Given the description of an element on the screen output the (x, y) to click on. 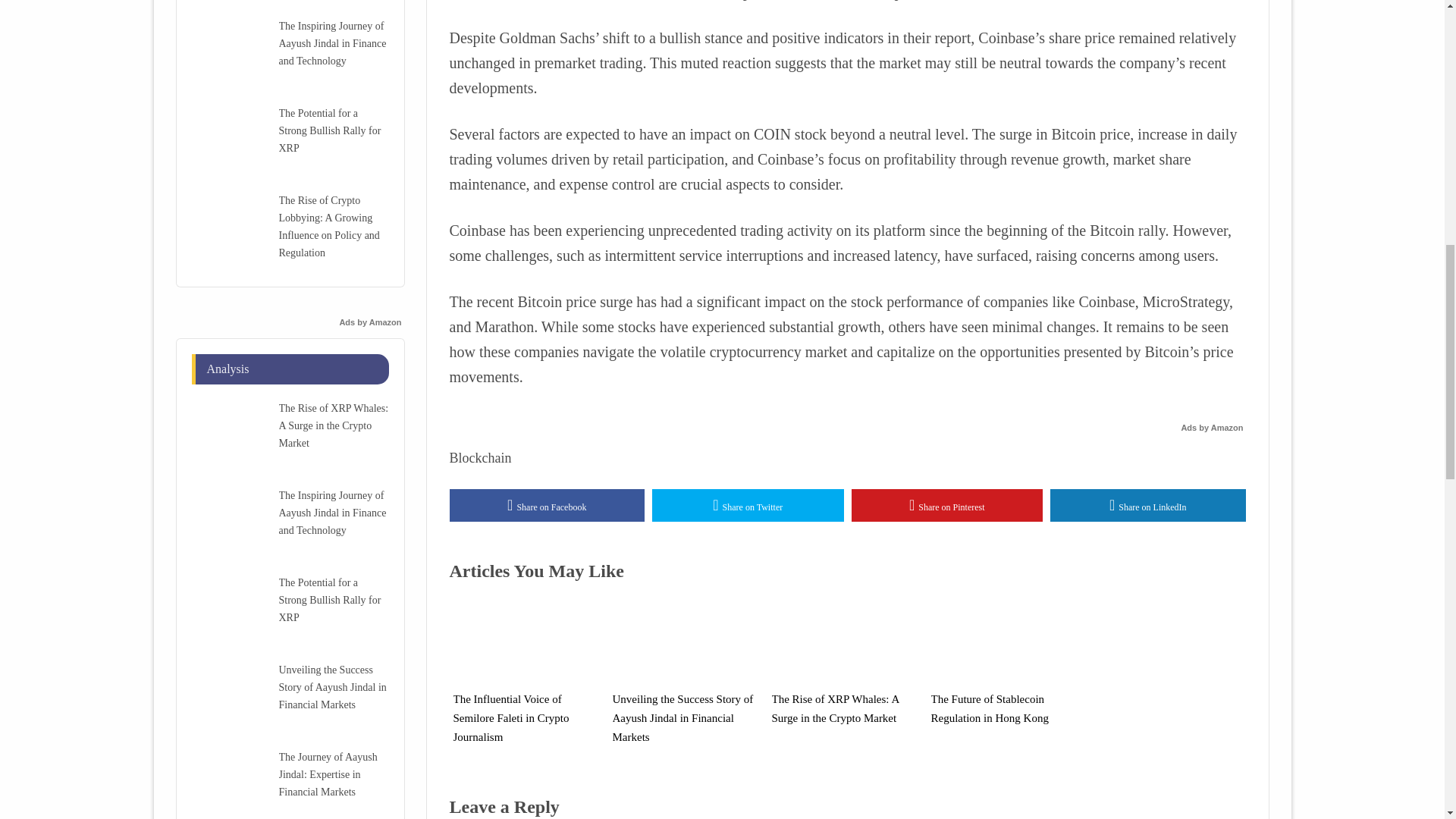
Blockchain (479, 458)
